Given the description of an element on the screen output the (x, y) to click on. 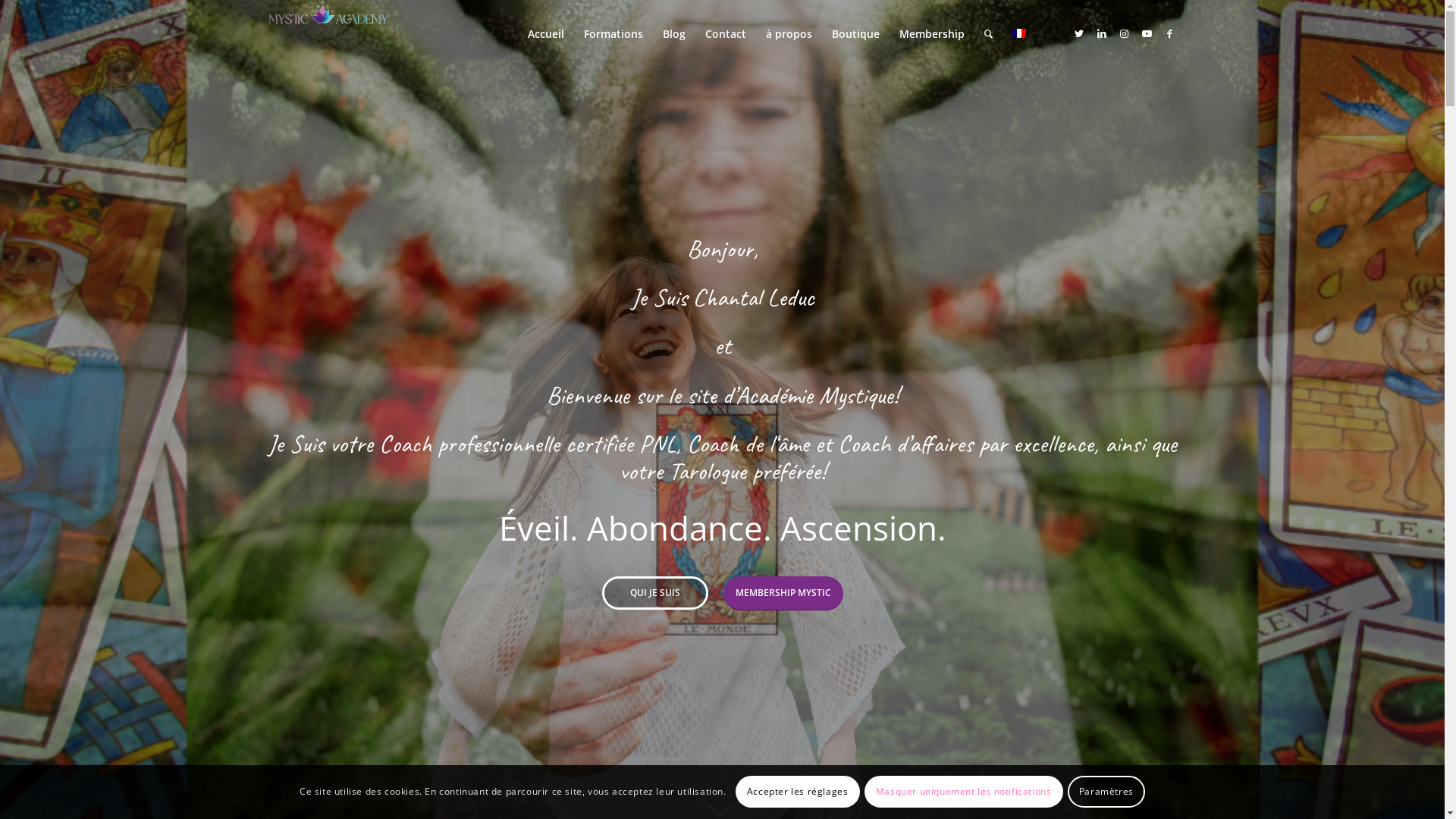
Accueil Element type: text (545, 34)
Facebook Element type: hover (1169, 32)
Youtube Element type: hover (1146, 32)
Masquer uniquement les notifications Element type: text (963, 791)
LinkedIn Element type: hover (1101, 32)
Formations Element type: text (612, 34)
QUI JE SUIS Element type: text (655, 592)
Instagram Element type: hover (1124, 32)
Contact Element type: text (724, 34)
Blog Element type: text (673, 34)
Boutique Element type: text (855, 34)
Twitter Element type: hover (1078, 32)
Membership Element type: text (930, 34)
MEMBERSHIP MYSTIC Element type: text (783, 593)
